Given the description of an element on the screen output the (x, y) to click on. 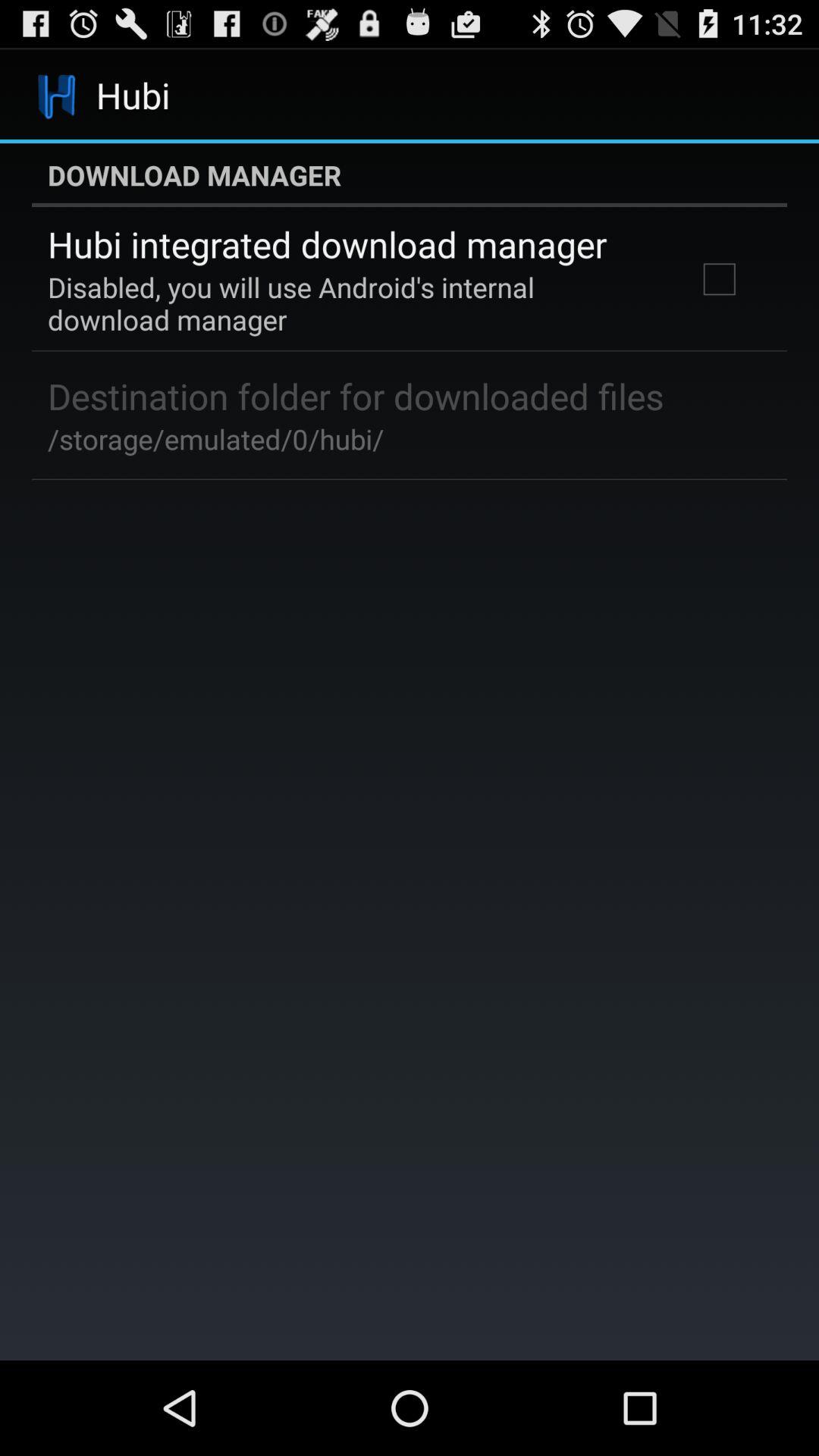
flip until storage emulated 0 (215, 438)
